Given the description of an element on the screen output the (x, y) to click on. 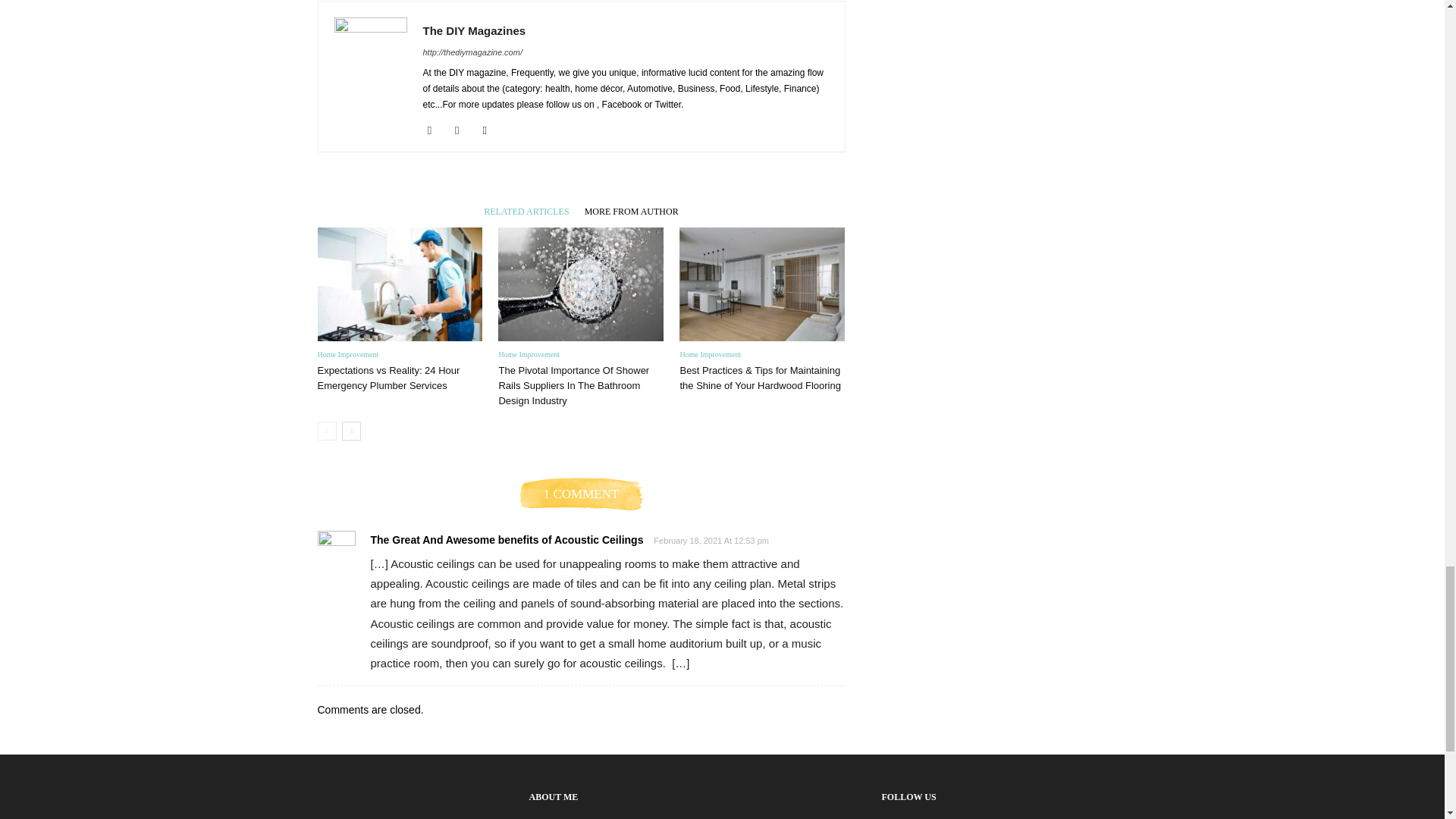
Instagram (462, 130)
Twitter (489, 130)
Facebook (435, 130)
